Given the description of an element on the screen output the (x, y) to click on. 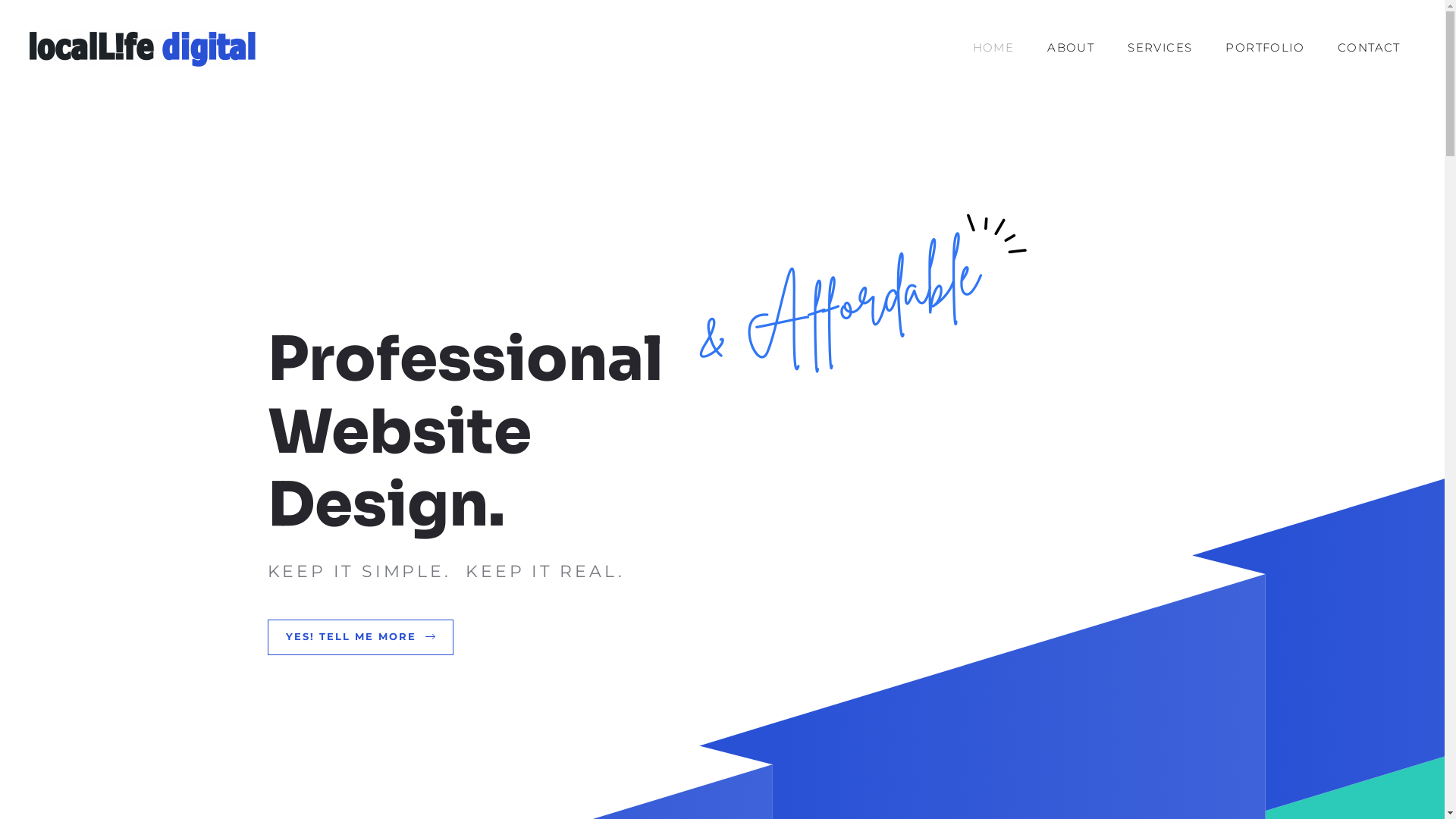
SERVICES Element type: text (1159, 47)
PORTFOLIO Element type: text (1264, 47)
ABOUT Element type: text (1070, 47)
HOME Element type: text (993, 47)
YES! TELL ME MORE Element type: text (359, 637)
CONTACT Element type: text (1368, 47)
